Given the description of an element on the screen output the (x, y) to click on. 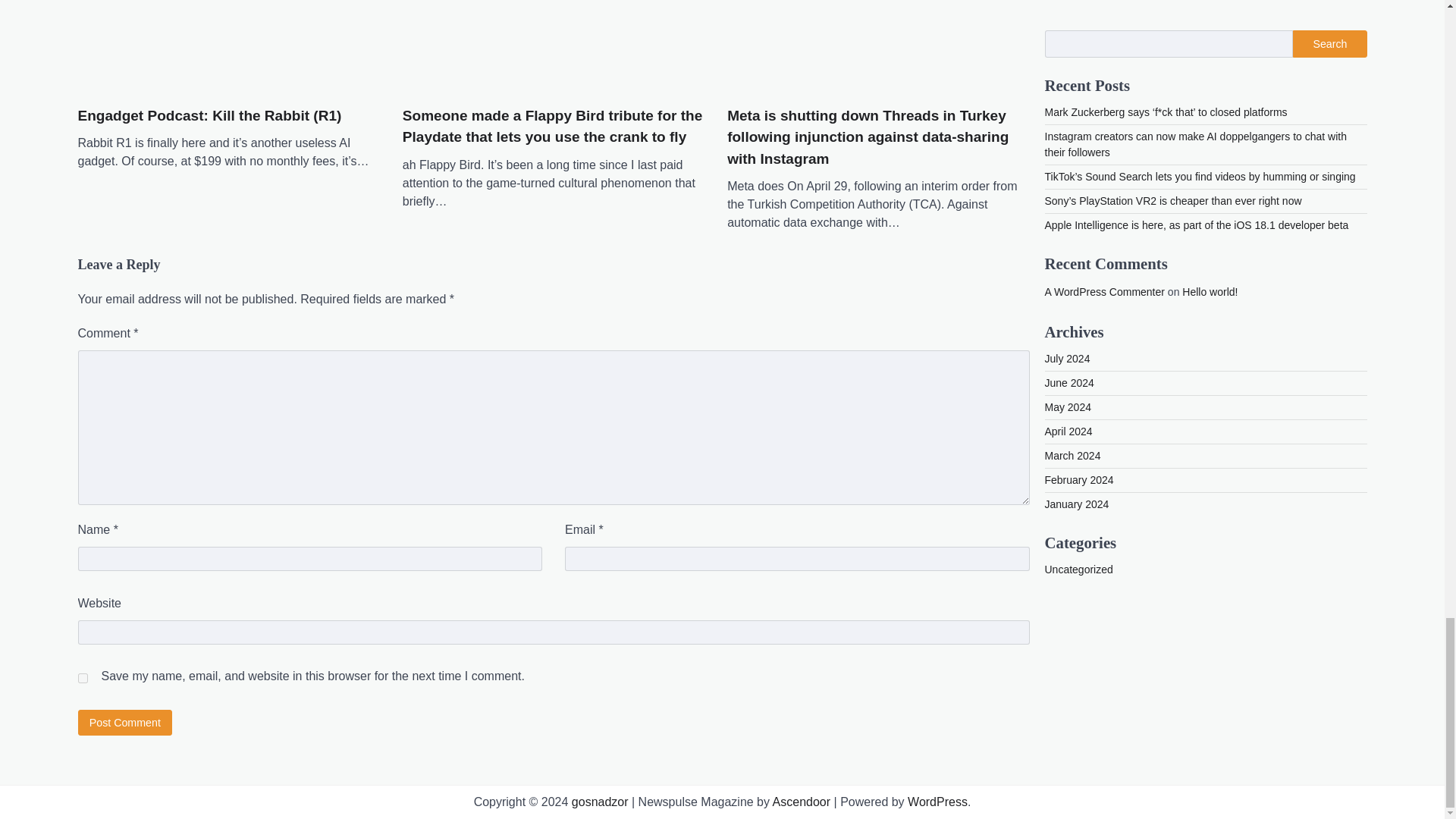
Post Comment (124, 722)
Post Comment (124, 722)
yes (82, 678)
